Given the description of an element on the screen output the (x, y) to click on. 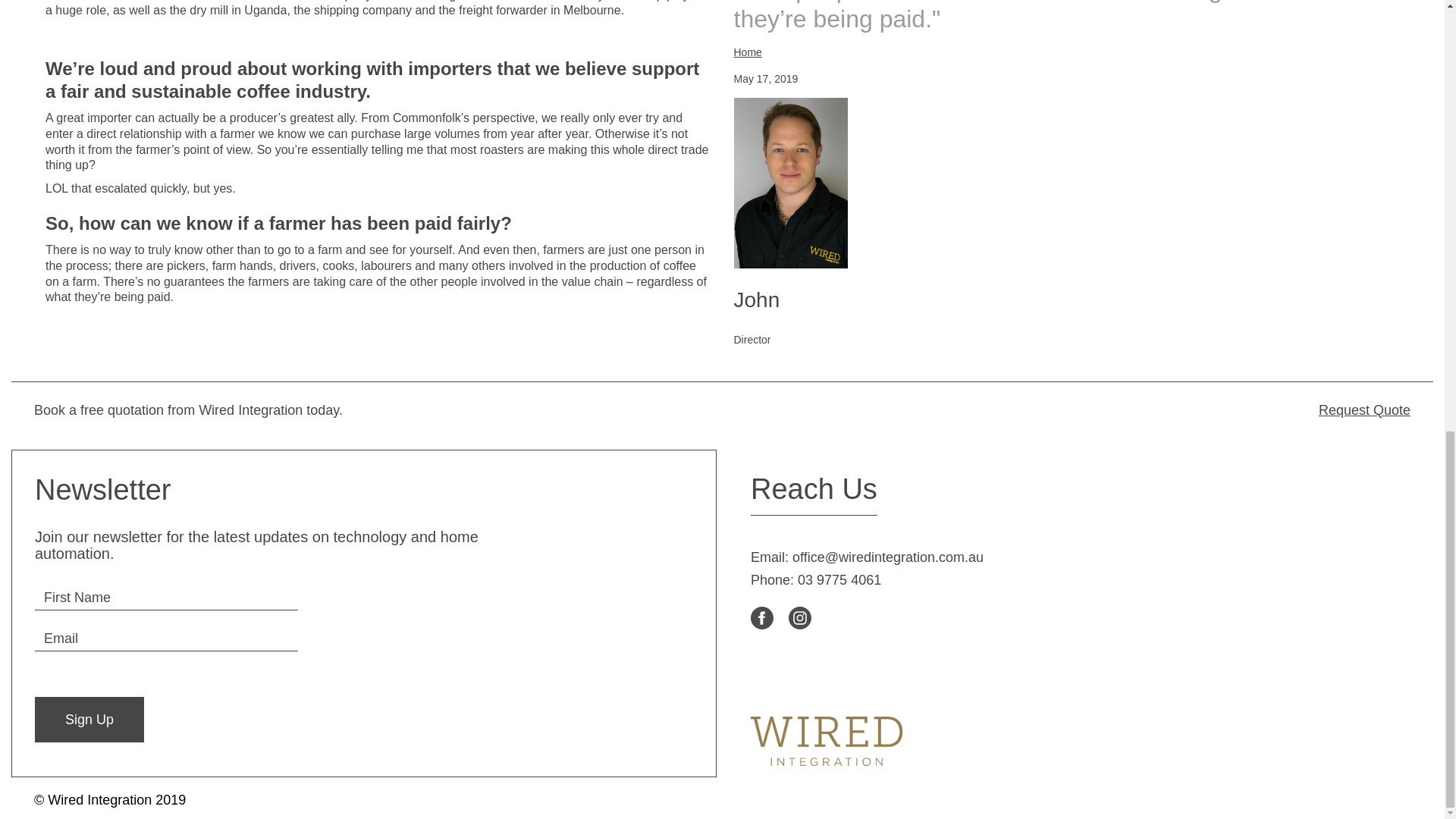
03 9775 4061 (838, 580)
Request Quote (1069, 409)
Sign Up (89, 719)
Sign Up (89, 719)
